Given the description of an element on the screen output the (x, y) to click on. 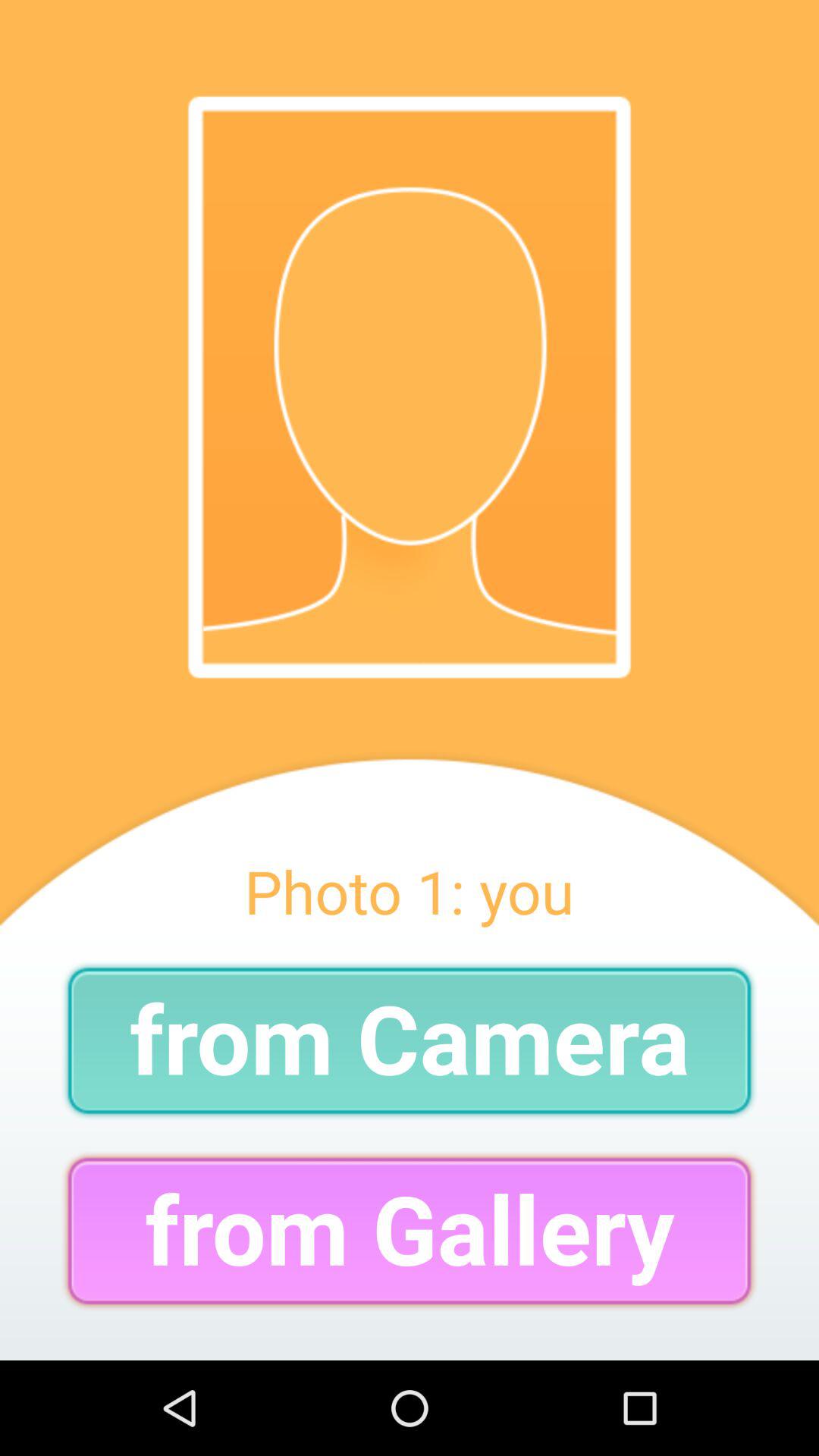
jump until the from gallery icon (409, 1230)
